Given the description of an element on the screen output the (x, y) to click on. 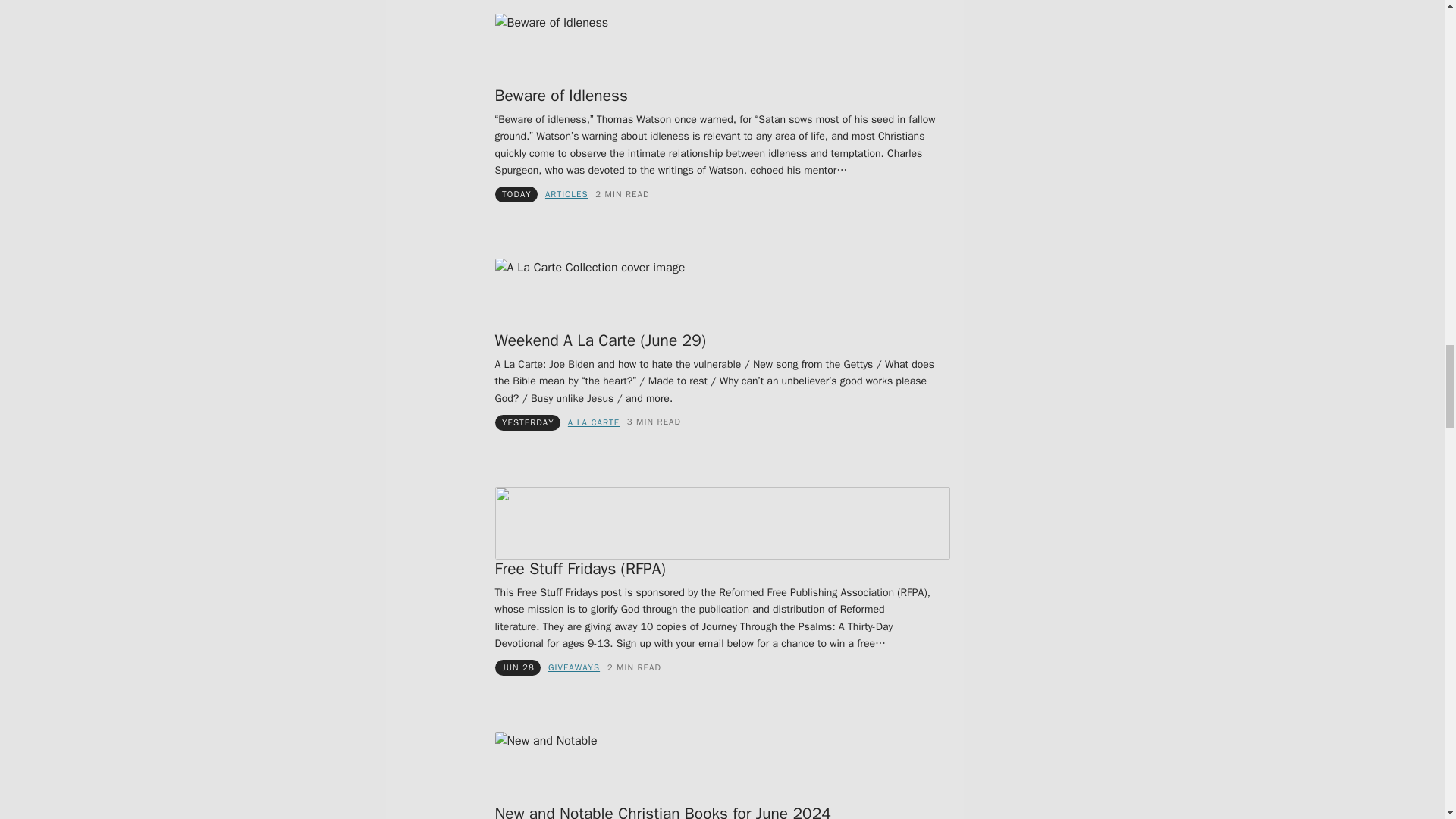
Jun 29, 2024 at 12:01 am (528, 421)
499 words (654, 421)
Jun 28, 2024 at 12:01 pm (518, 666)
231 words (622, 194)
251 words (634, 667)
Jun 30, 2024 at 12:01 am (516, 194)
